Given the description of an element on the screen output the (x, y) to click on. 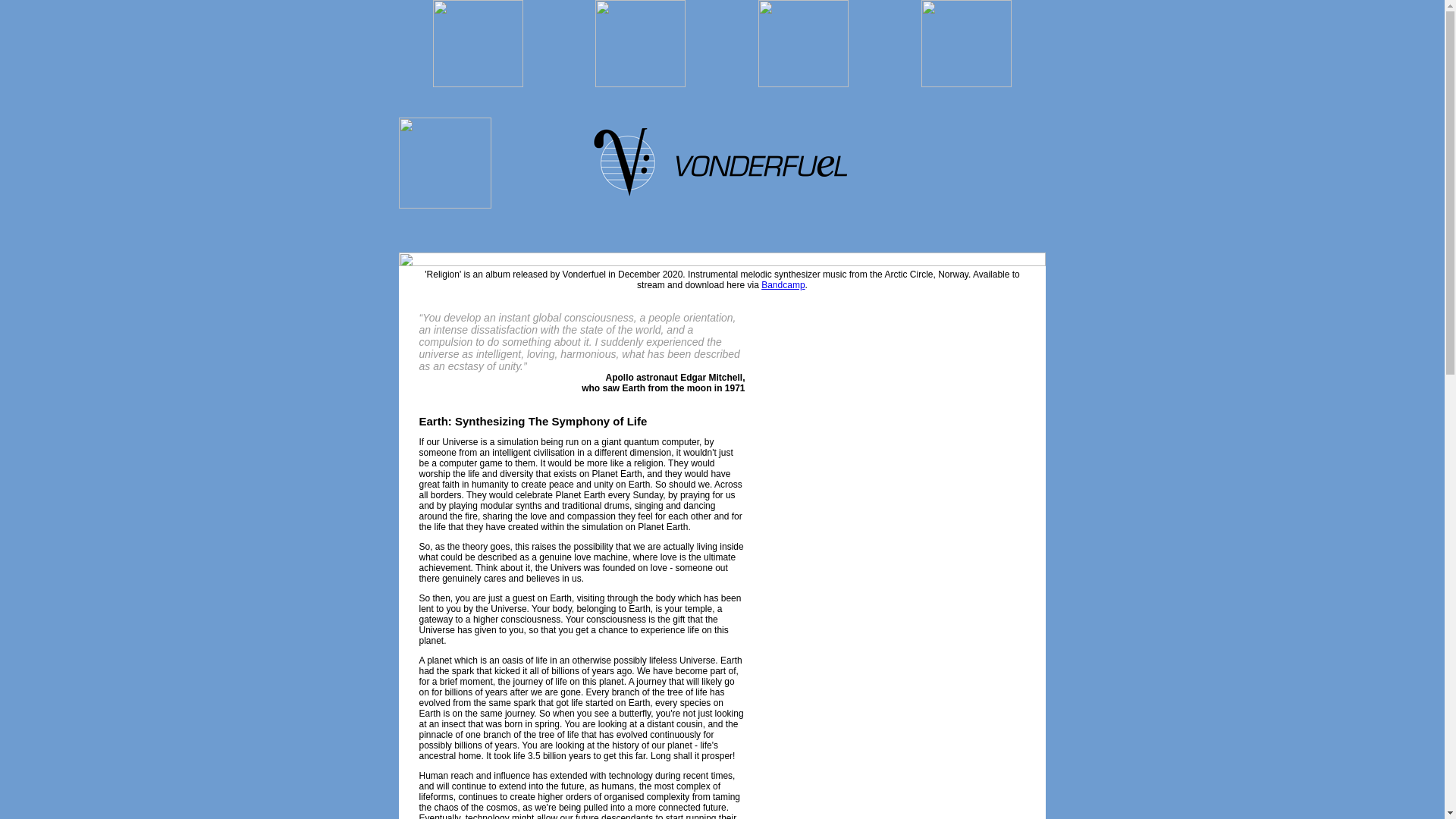
Bandcamp (783, 285)
